Given the description of an element on the screen output the (x, y) to click on. 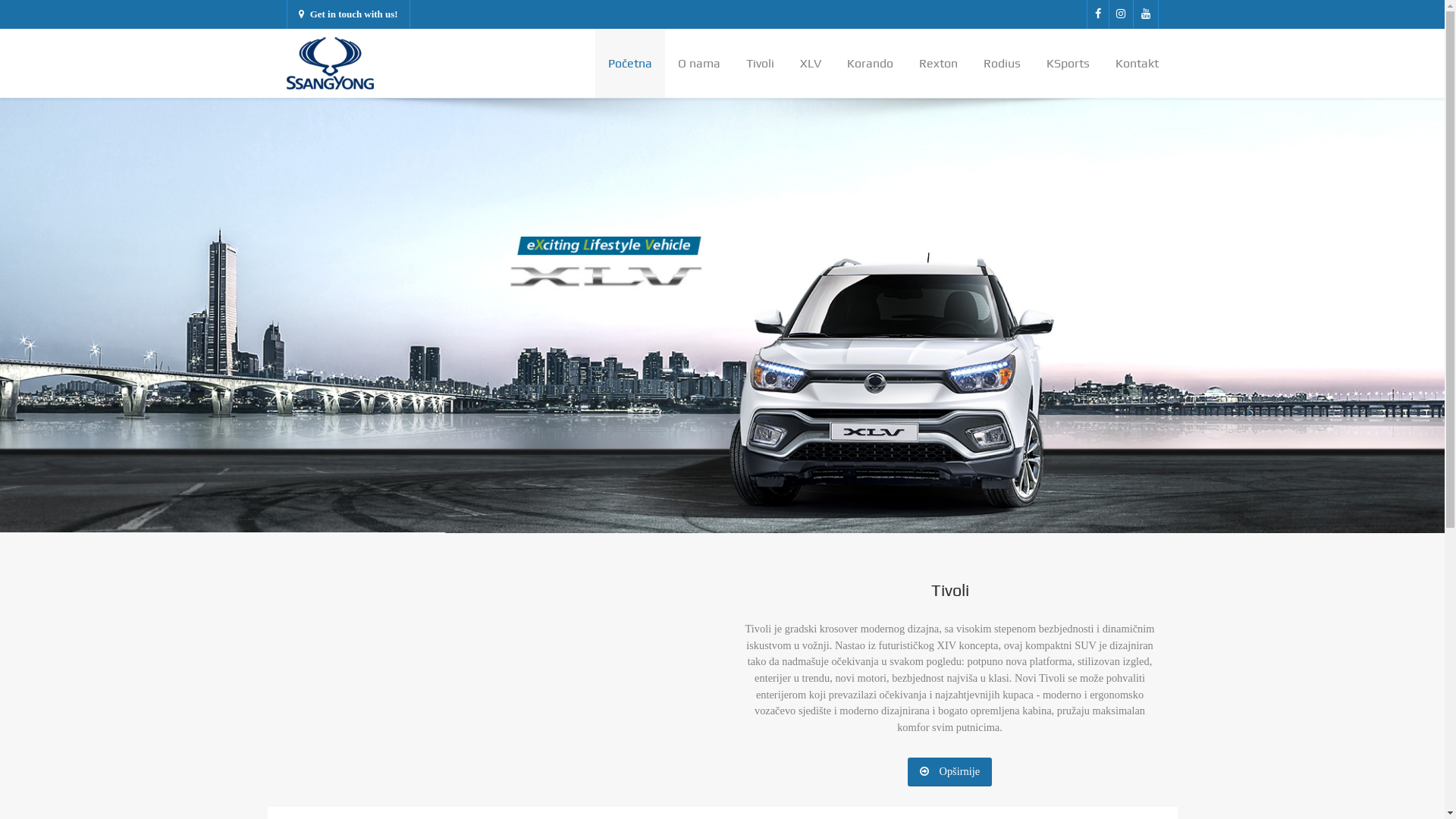
XLV Element type: text (810, 62)
Rodius Element type: text (1001, 62)
Rexton Element type: text (937, 62)
Korando Element type: text (870, 62)
Paradise Element type: hover (329, 62)
O nama Element type: text (698, 62)
KSports Element type: text (1066, 62)
Get in touch with us! Element type: text (348, 14)
Kontakt Element type: text (1130, 62)
Tivoli Element type: text (759, 62)
